Given the description of an element on the screen output the (x, y) to click on. 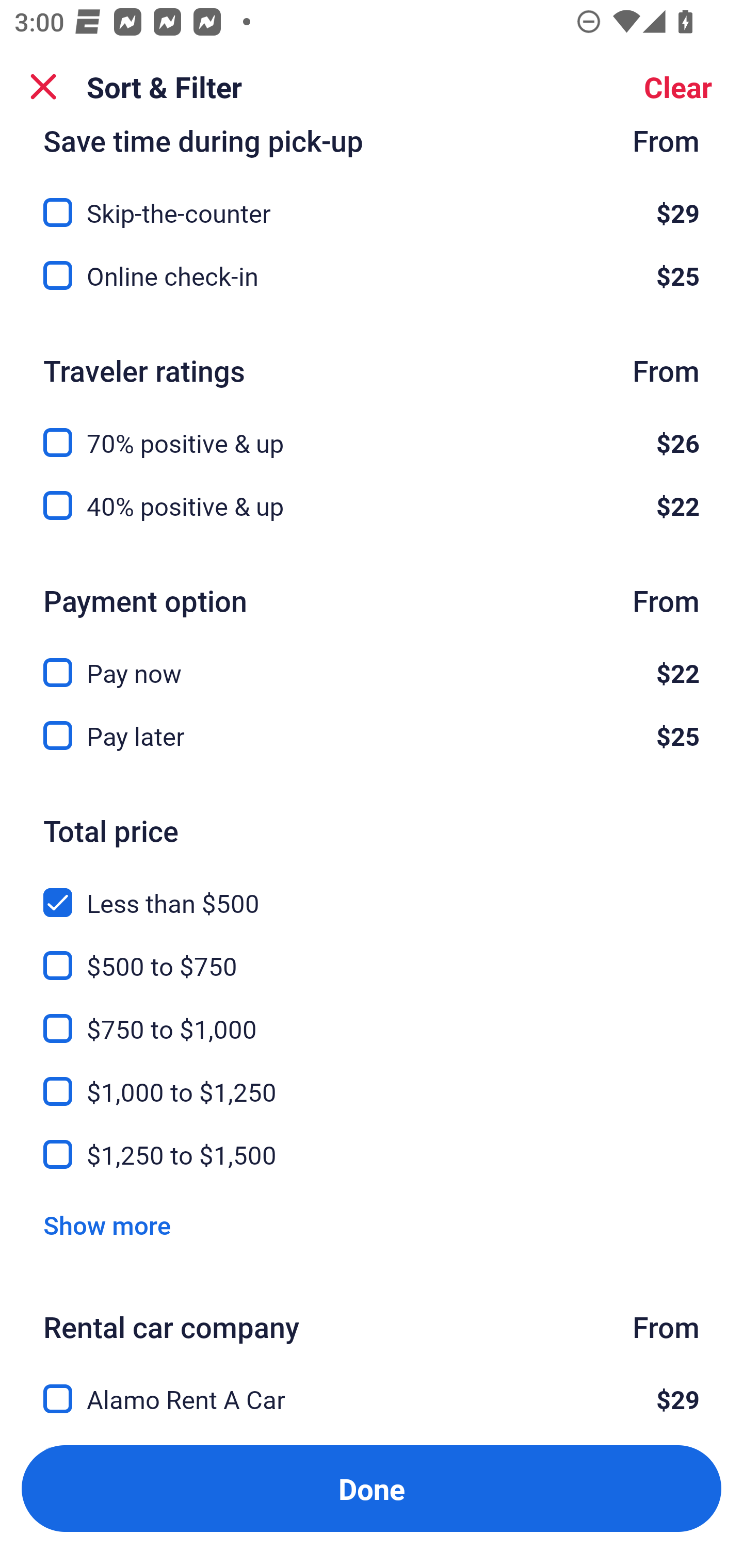
Close Sort and Filter (43, 86)
Clear (677, 86)
Skip-the-counter, $29 Skip-the-counter $29 (371, 200)
Online check-in, $25 Online check-in $25 (371, 275)
70% positive & up, $26 70% positive & up $26 (371, 430)
40% positive & up, $22 40% positive & up $22 (371, 505)
Pay now, $22 Pay now $22 (371, 661)
Pay later, $25 Pay later $25 (371, 736)
Less than $500, Less than $500 (371, 890)
$500 to $750, $500 to $750 (371, 953)
$750 to $1,000, $750 to $1,000 (371, 1017)
$1,000 to $1,250, $1,000 to $1,250 (371, 1079)
$1,250 to $1,500, $1,250 to $1,500 (371, 1154)
Show more Show more Link (106, 1225)
Alamo Rent A Car, $29 Alamo Rent A Car $29 (371, 1387)
Apply and close Sort and Filter Done (371, 1488)
